Given the description of an element on the screen output the (x, y) to click on. 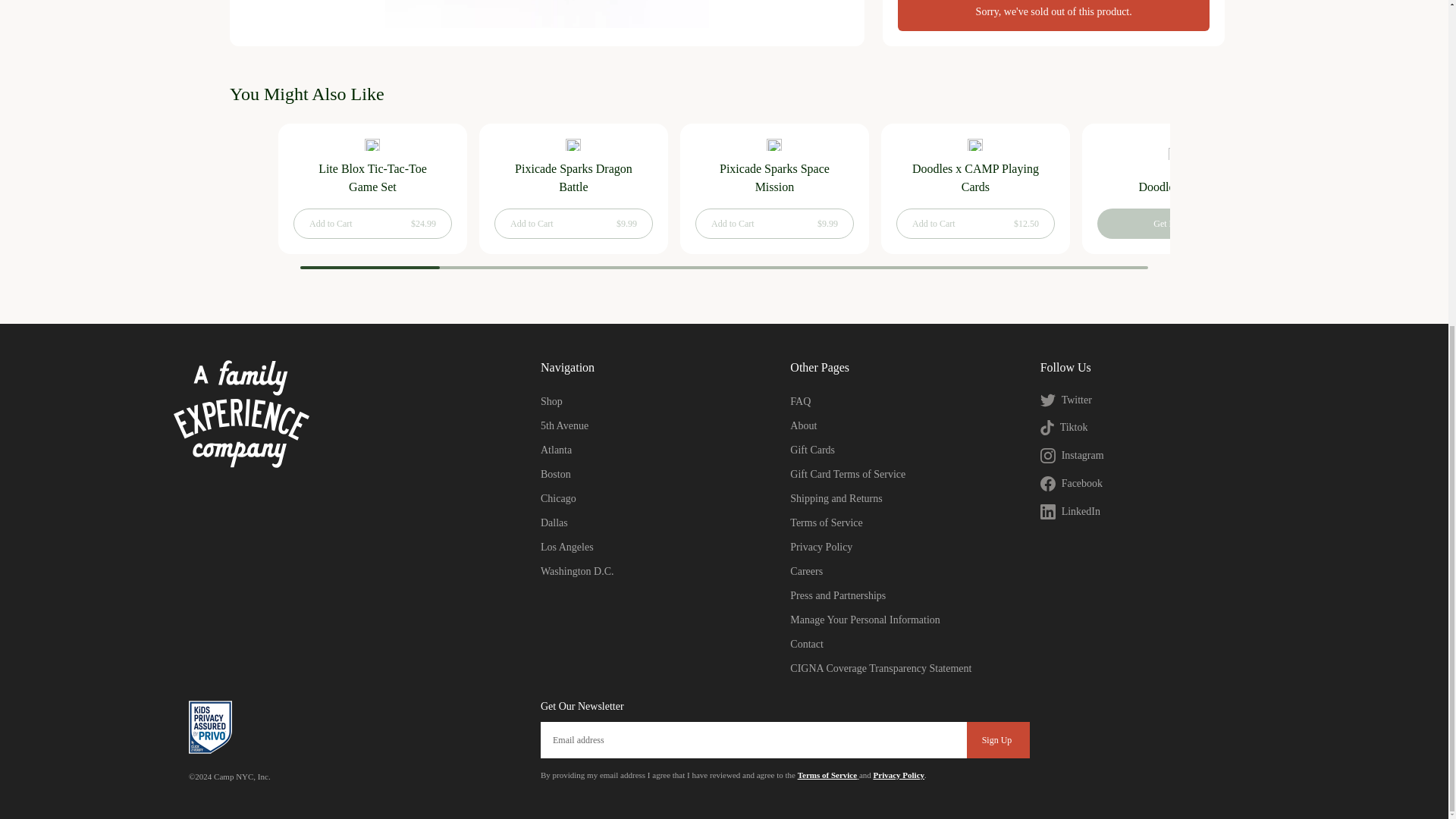
Pixicade Sparks Space Mission (774, 188)
Pixicade Sparks Dragon Battle (574, 177)
Doodles x CAMP Playing Cards (974, 177)
Doodles Puzzle (1176, 187)
Lite Blox Tic-Tac-Toe Game Set (373, 177)
Pixicade Sparks Dragon Battle (573, 188)
Pixicade Sparks Space Mission (773, 177)
Lite Blox Tic-Tac-Toe Game Set (372, 188)
NYC Shuffle Playing Cards (1376, 177)
